Given the description of an element on the screen output the (x, y) to click on. 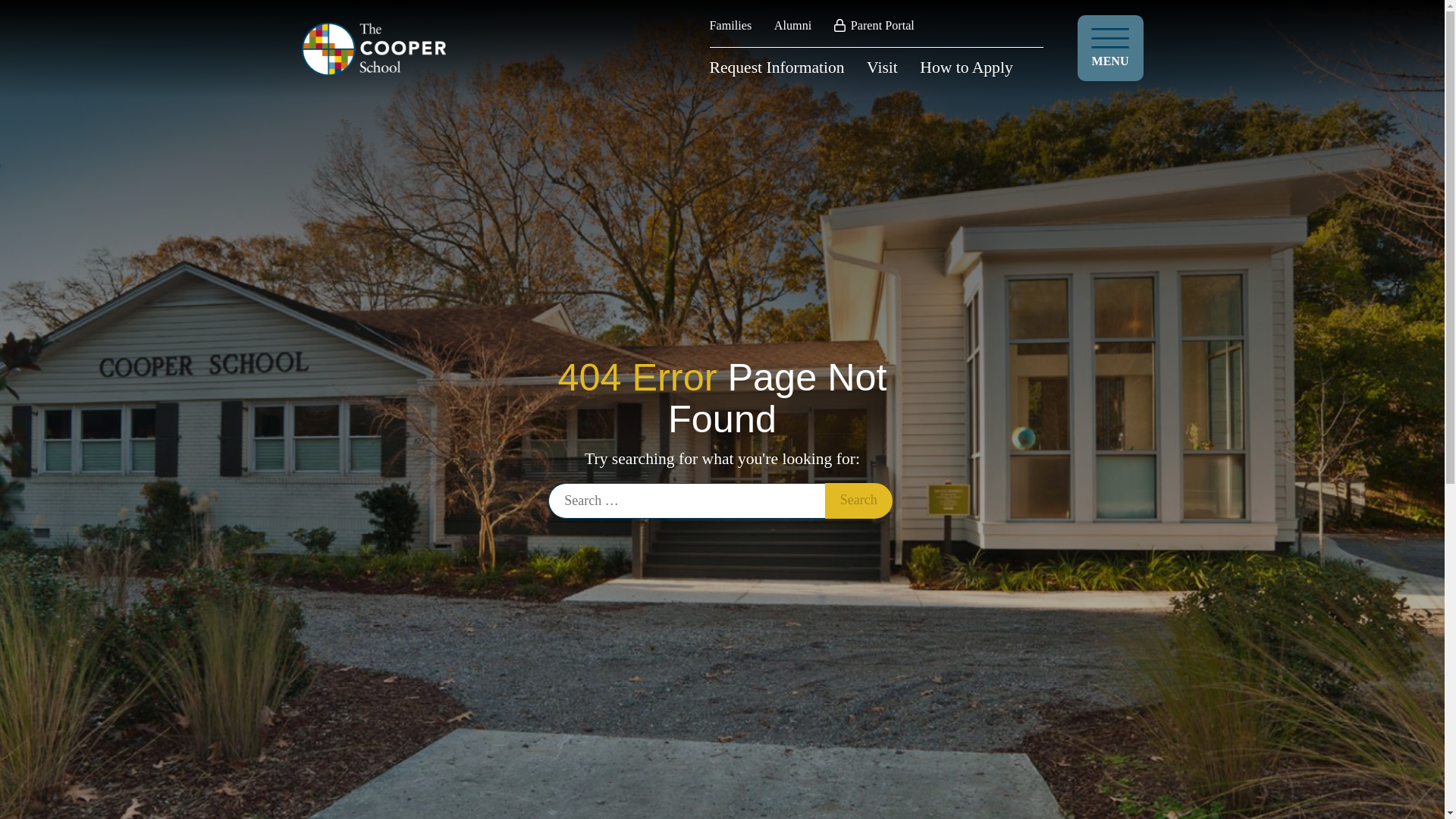
Request Information (777, 67)
Search (858, 500)
Visit (882, 67)
Parent Portal (874, 25)
Alumni (792, 25)
How to Apply (965, 67)
Families (731, 25)
MENU (1109, 48)
